Given the description of an element on the screen output the (x, y) to click on. 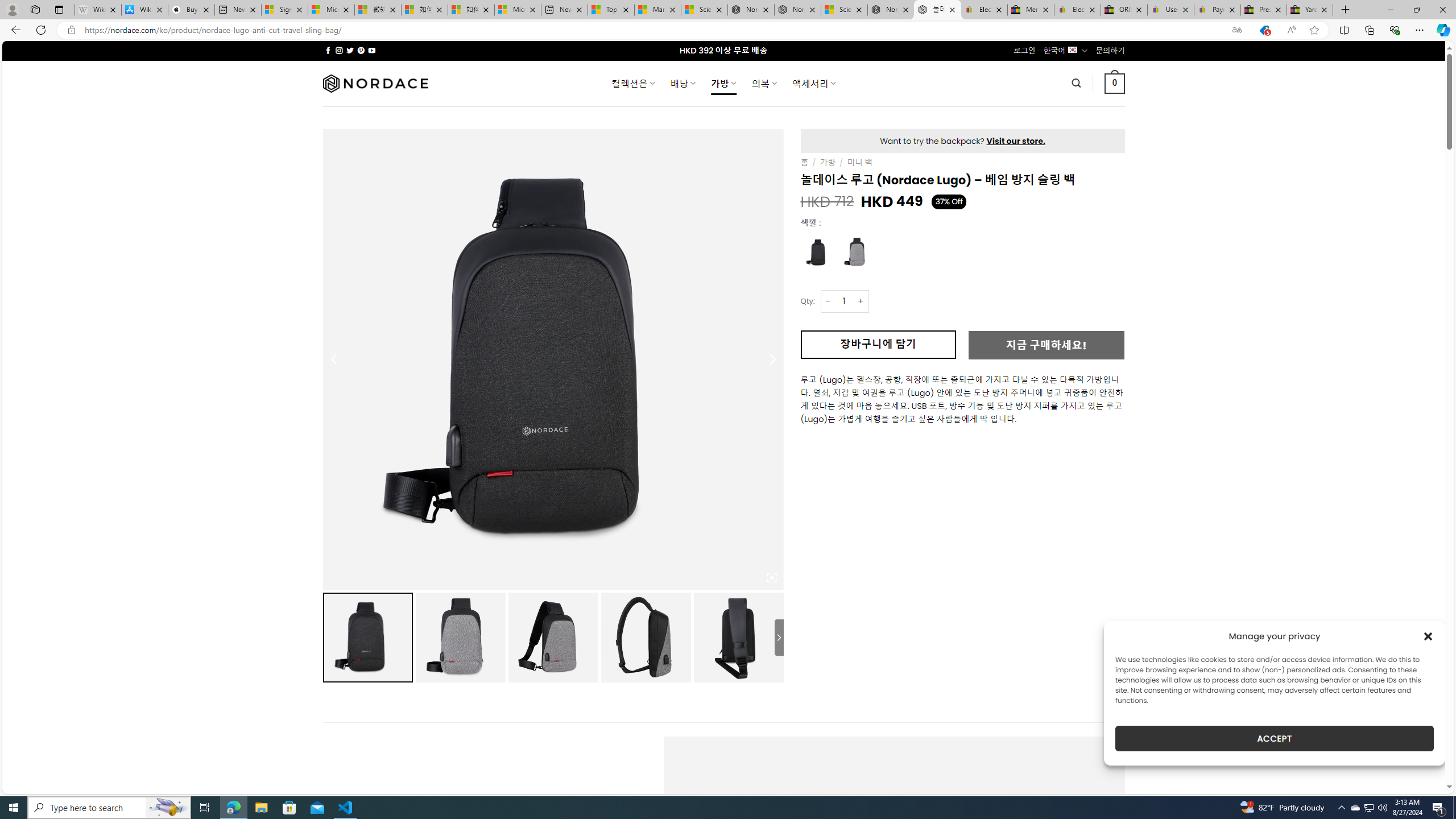
Follow on YouTube (371, 50)
Follow on Pinterest (360, 50)
  0   (1115, 83)
